Given the description of an element on the screen output the (x, y) to click on. 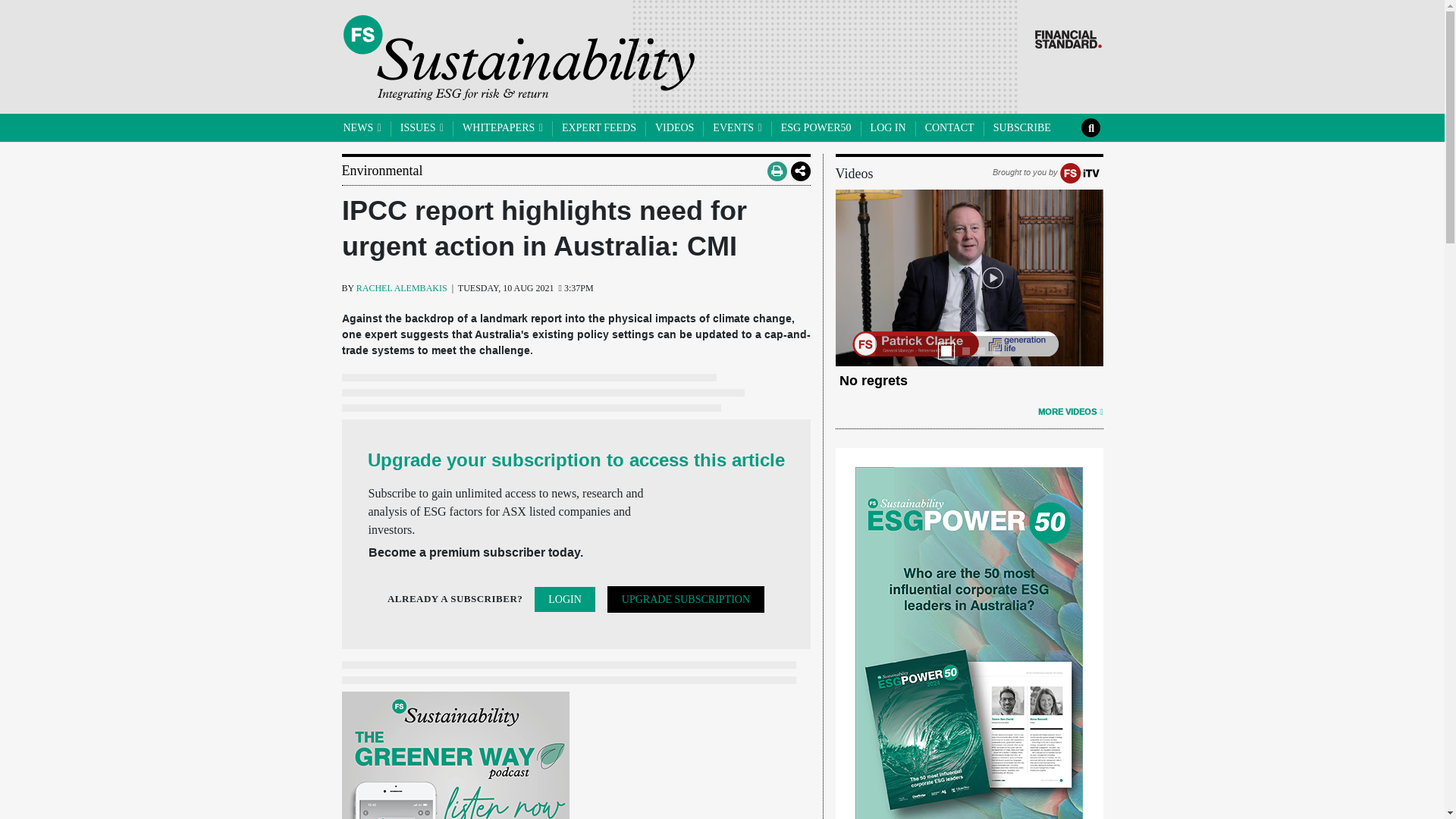
FS Sustainability (518, 57)
Powered by Financial Standard (1066, 39)
FSiTV (1079, 171)
Print (777, 170)
NEWS (361, 127)
More videos on FSiTV (1070, 411)
Advertisement (454, 755)
No regrets (872, 380)
